Given the description of an element on the screen output the (x, y) to click on. 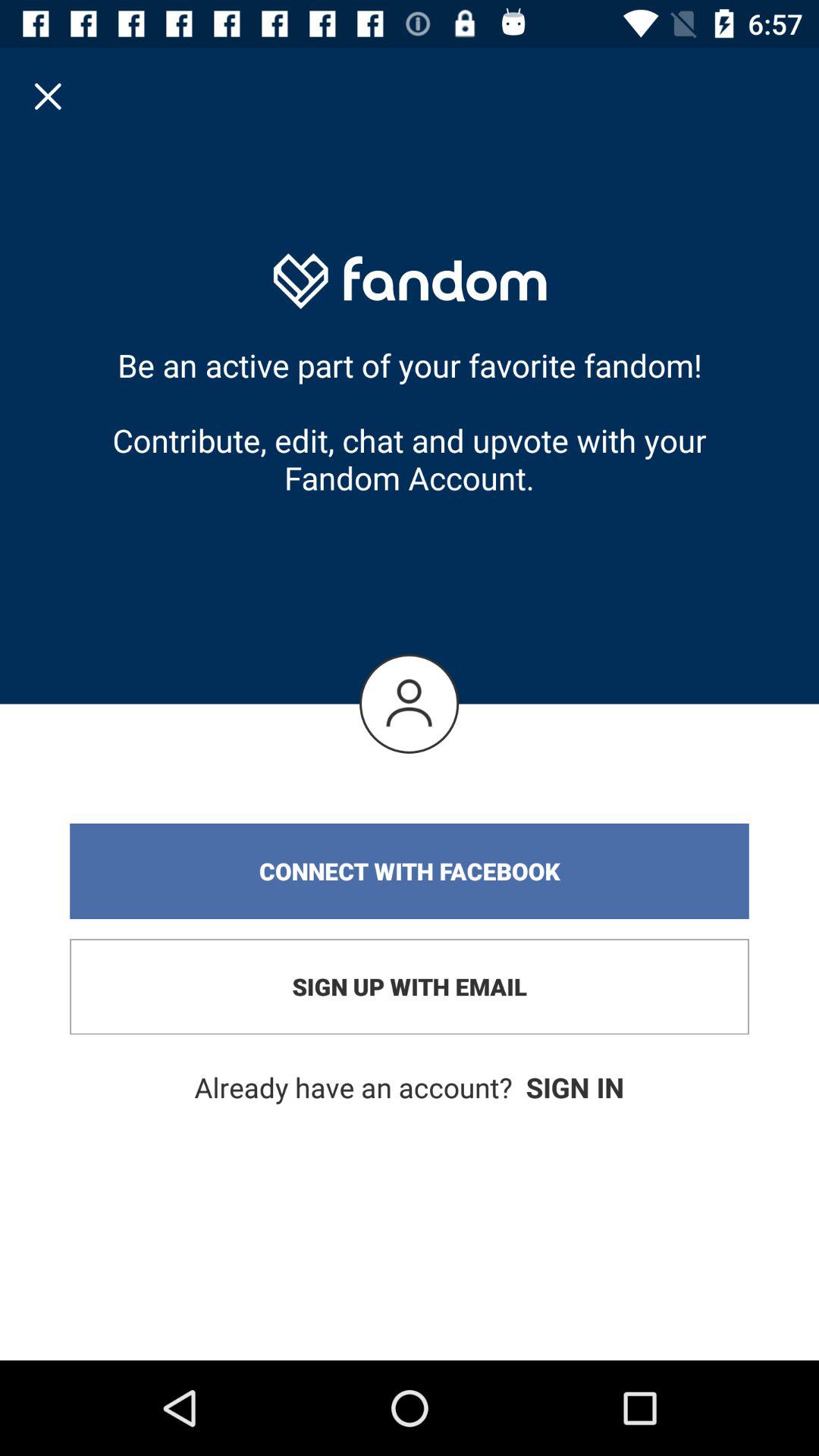
click the already have an icon (409, 1087)
